Given the description of an element on the screen output the (x, y) to click on. 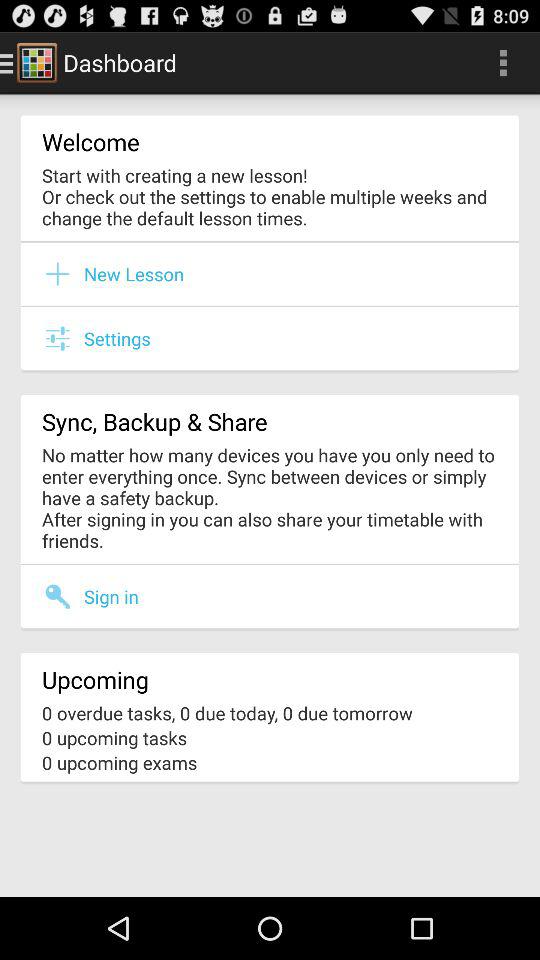
click the item below welcome icon (269, 196)
